Given the description of an element on the screen output the (x, y) to click on. 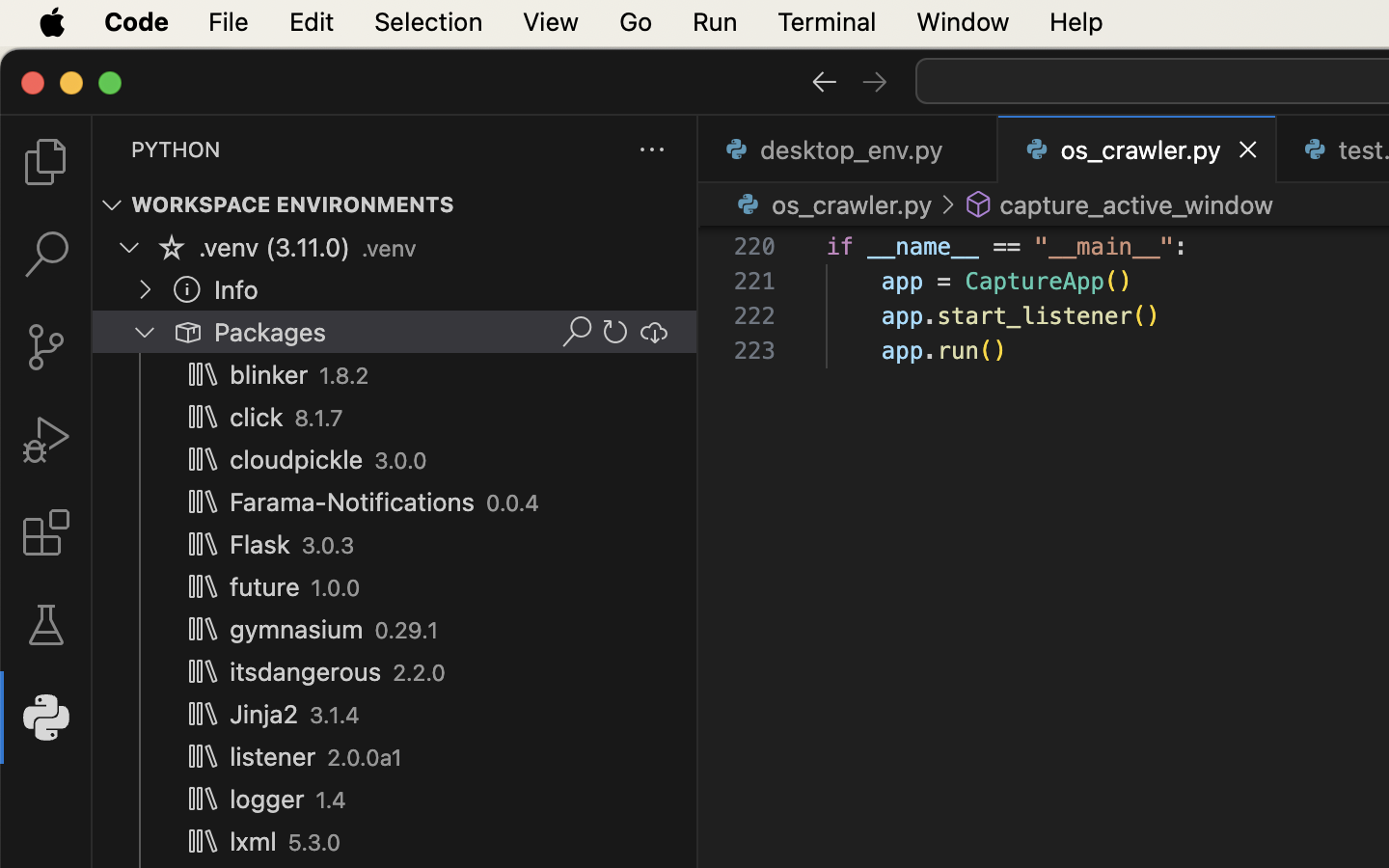
listener Element type: AXStaticText (272, 756)
Jinja2 Element type: AXStaticText (264, 714)
 Element type: AXStaticText (186, 331)
0  Element type: AXRadioButton (46, 254)
3.0.3 Element type: AXStaticText (327, 545)
